Given the description of an element on the screen output the (x, y) to click on. 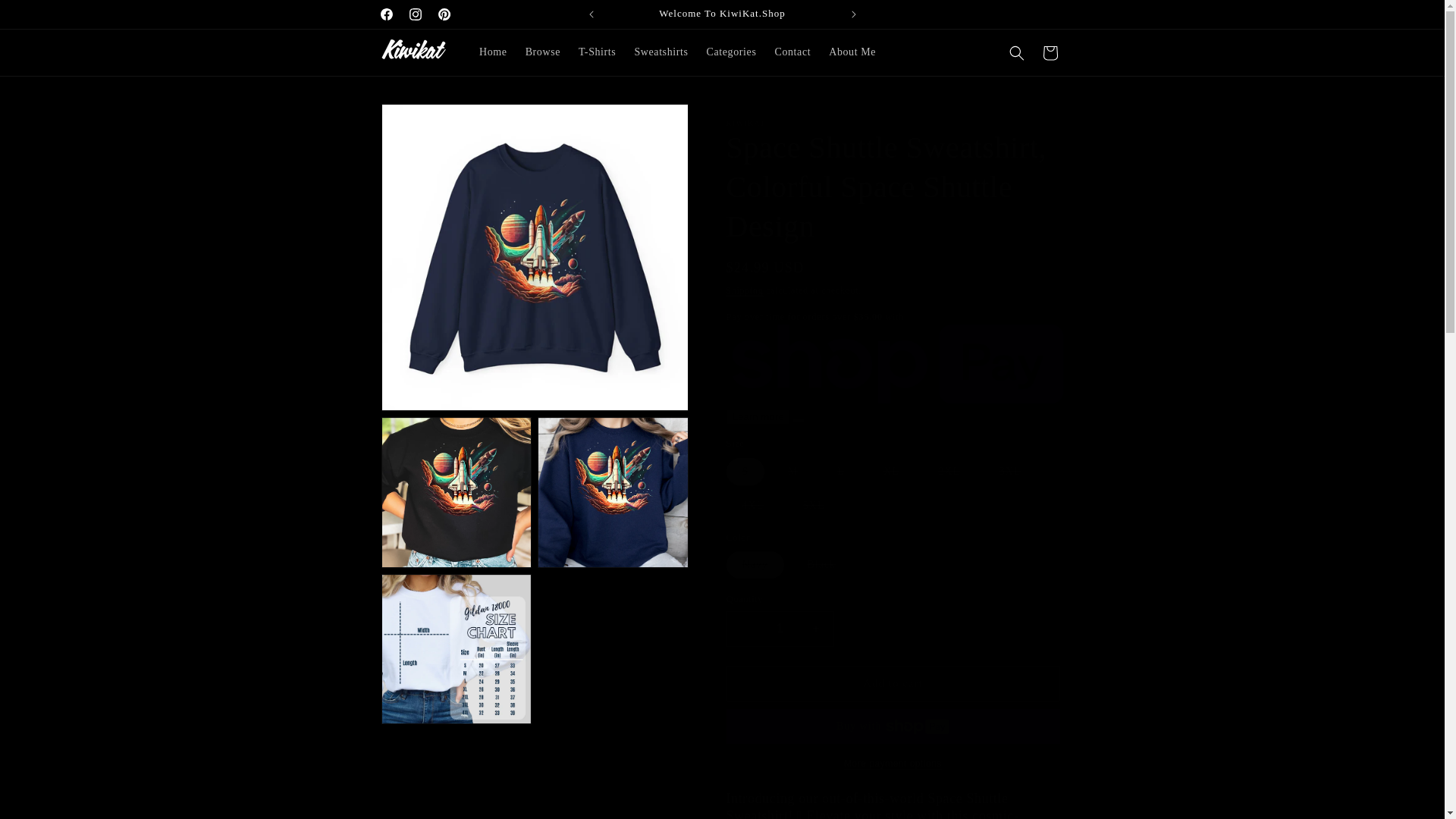
Open media 2 in modal (455, 492)
Categories (731, 51)
Browse (542, 51)
Skip to product information (426, 120)
Home (493, 51)
Instagram (414, 14)
Open media 3 in modal (612, 492)
T-Shirts (596, 51)
Cart (1048, 52)
